Given the description of an element on the screen output the (x, y) to click on. 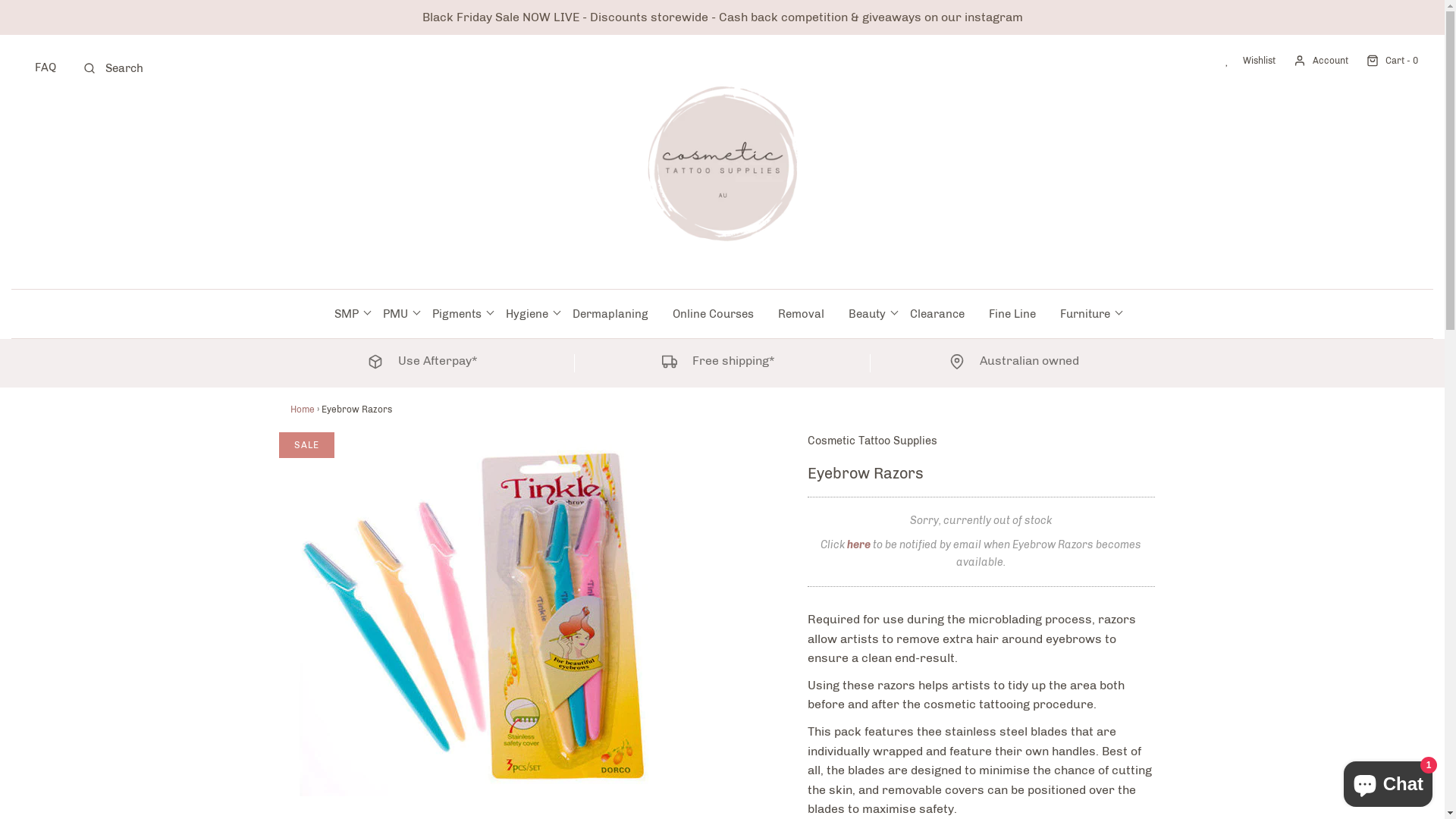
Cart - 0 Element type: text (1383, 60)
Search Element type: hover (343, 10)
Beauty Element type: text (867, 313)
Dermaplaning Element type: text (610, 313)
Pigments Element type: text (456, 313)
Fine Line Element type: text (1012, 313)
Online Courses Element type: text (713, 313)
Search Element type: text (111, 67)
Removal Element type: text (800, 313)
Wishlist Element type: text (1242, 61)
SMP Element type: text (346, 313)
FAQ Element type: text (45, 67)
Shopify online store chat Element type: hover (1388, 780)
Hygiene Element type: text (526, 313)
Account Element type: text (1311, 60)
Clearance Element type: text (936, 313)
Home Element type: text (301, 409)
here Element type: text (858, 544)
PMU Element type: text (395, 313)
Furniture Element type: text (1084, 313)
